Given the description of an element on the screen output the (x, y) to click on. 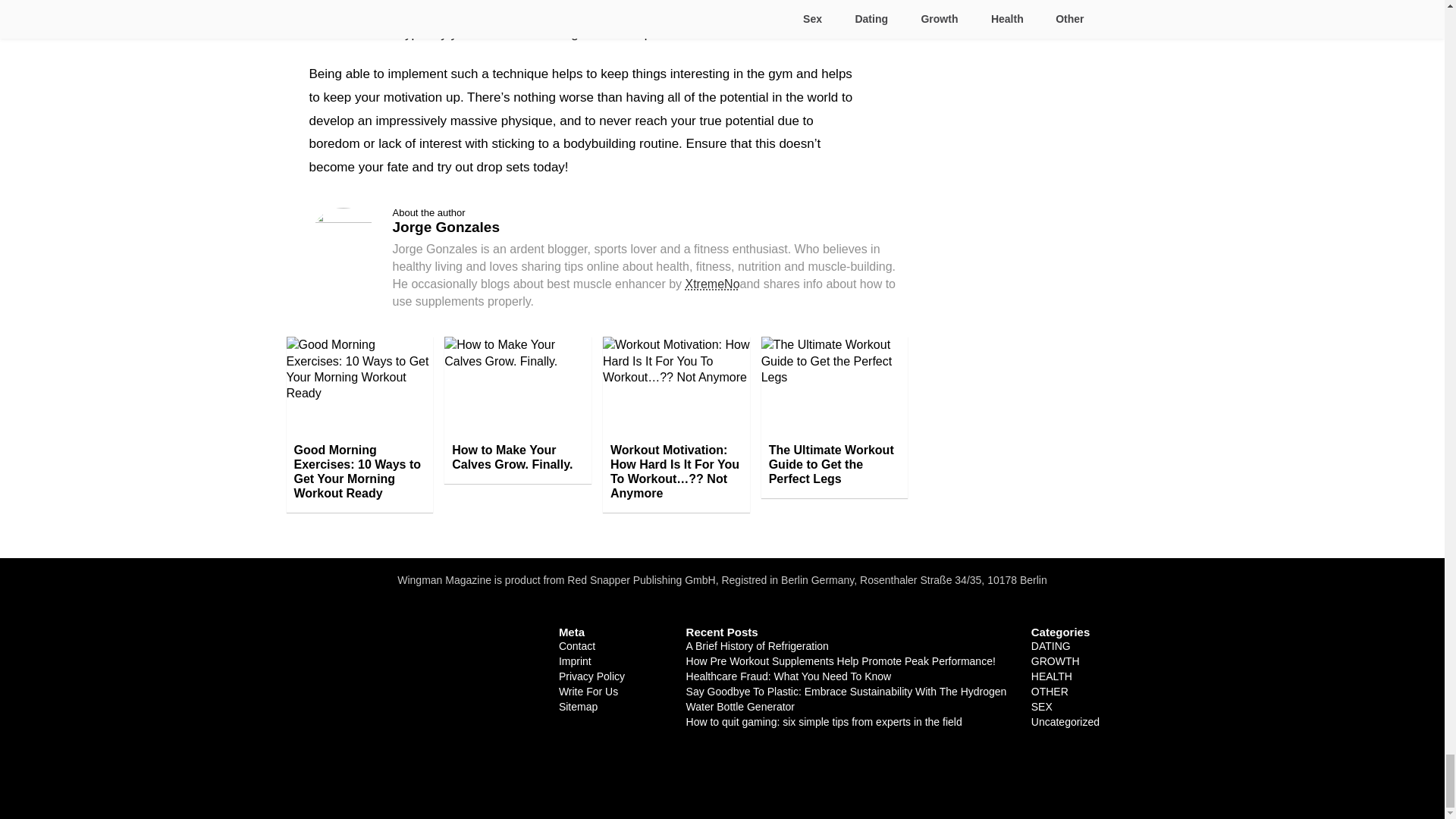
XtremeNo (712, 283)
How to Make Your Calves Grow. Finally. (517, 457)
The Ultimate Workout Guide to Get the Perfect Legs (834, 464)
